Given the description of an element on the screen output the (x, y) to click on. 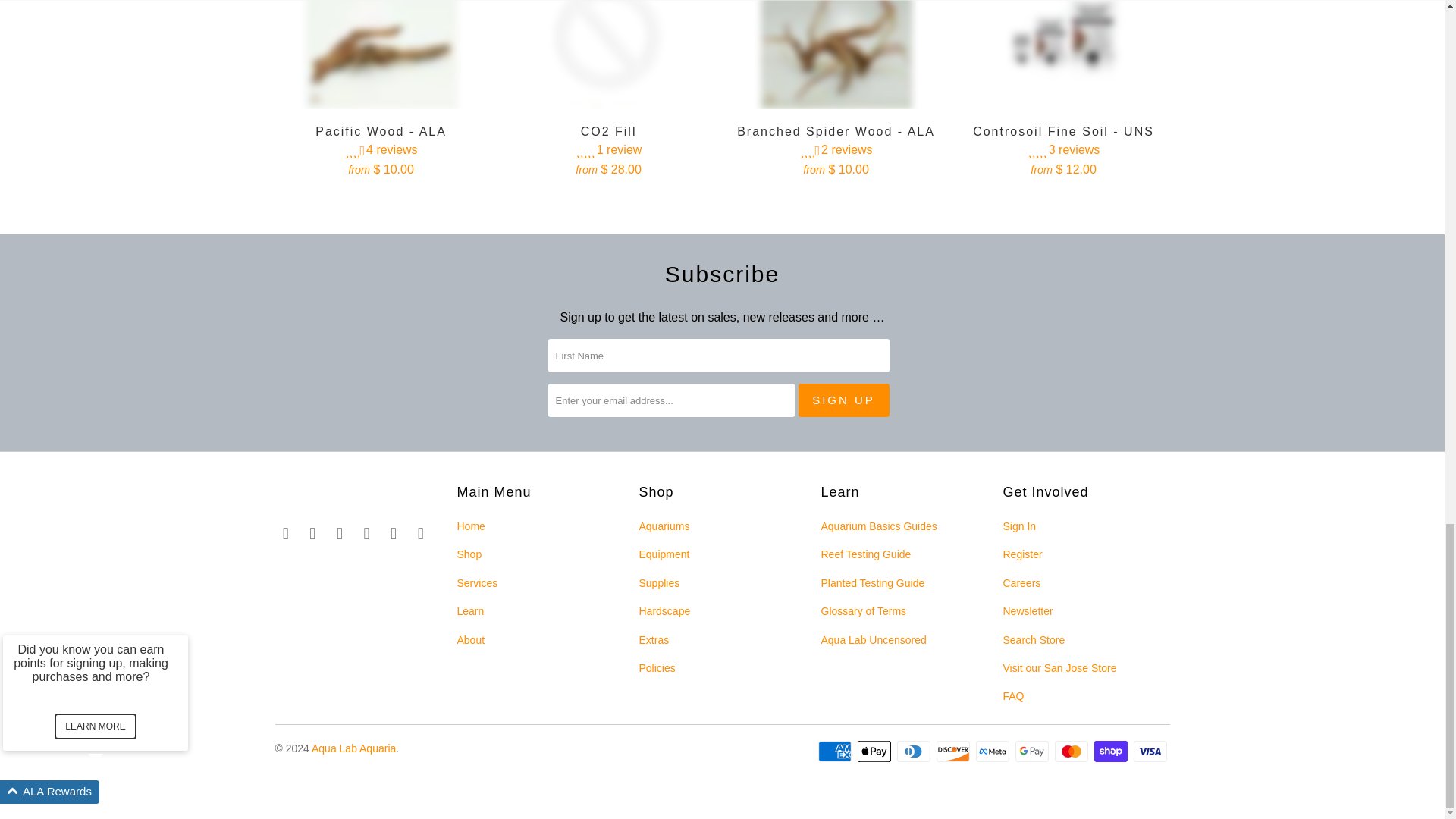
Google Pay (1032, 751)
Shop Pay (1112, 751)
Meta Pay (993, 751)
American Express (836, 751)
Mastercard (1072, 751)
Apple Pay (875, 751)
Sign Up (842, 400)
Diners Club (914, 751)
Discover (954, 751)
Visa (1150, 751)
